Given the description of an element on the screen output the (x, y) to click on. 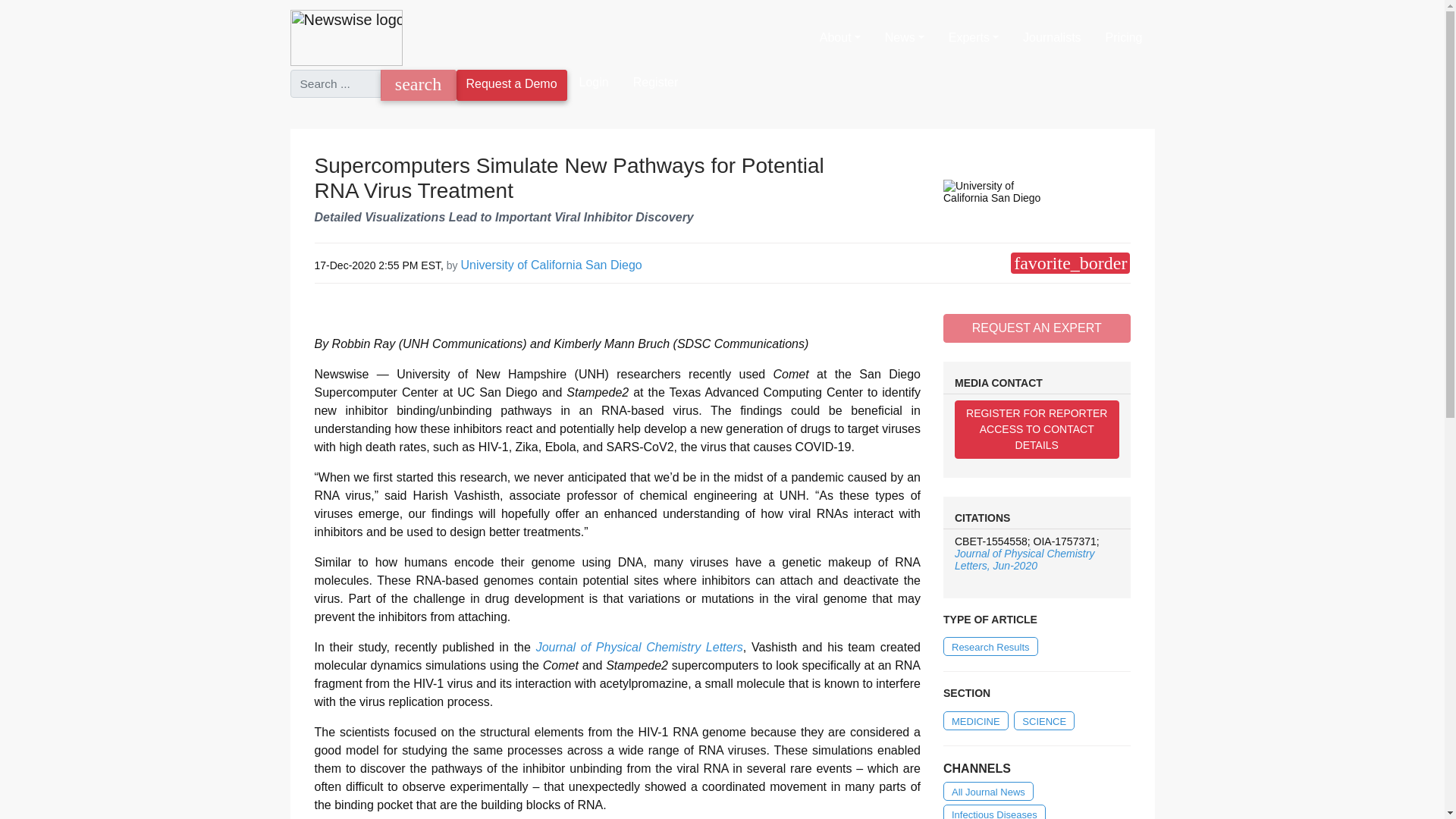
News (904, 37)
Show all articles in this channel (1043, 720)
Research Results (990, 646)
Newswise logo (345, 37)
Show all articles in this channel (988, 791)
Newswise logo (345, 37)
Add to Favorites (1069, 262)
About (840, 37)
Show all articles in this channel (976, 720)
Show all articles in this channel (994, 811)
